Given the description of an element on the screen output the (x, y) to click on. 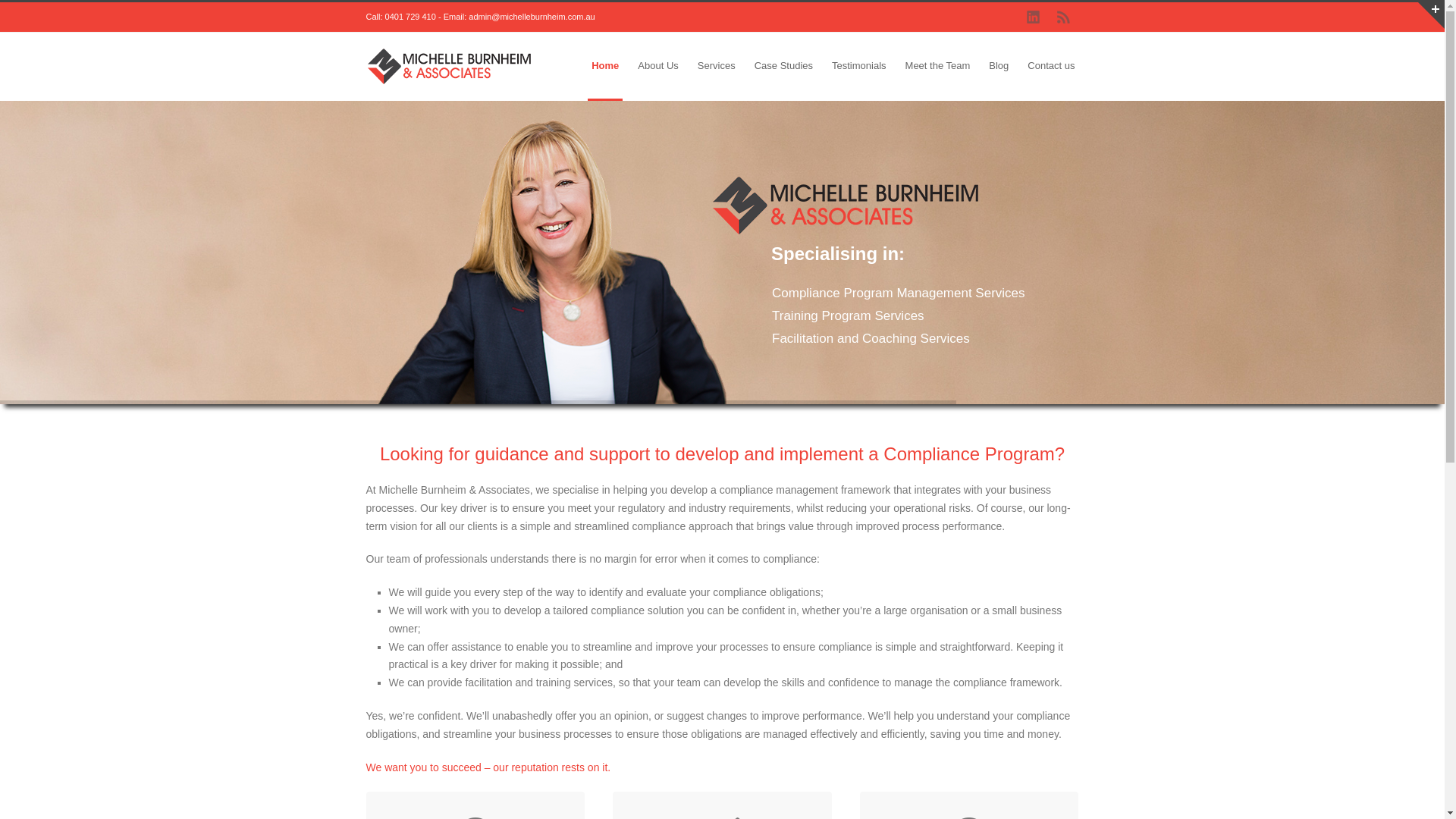
Meet the Team Element type: text (937, 66)
admin@michelleburnheim.com.au Element type: text (531, 16)
0401 729 410 Element type: text (410, 16)
RSS Element type: text (1063, 17)
Testimonials Element type: text (859, 66)
Contact us Element type: text (1050, 66)
Case Studies Element type: text (783, 66)
LinkedIn Element type: text (1032, 17)
Home Element type: text (604, 66)
Services Element type: text (716, 66)
Blog Element type: text (998, 66)
About Us Element type: text (657, 66)
